Given the description of an element on the screen output the (x, y) to click on. 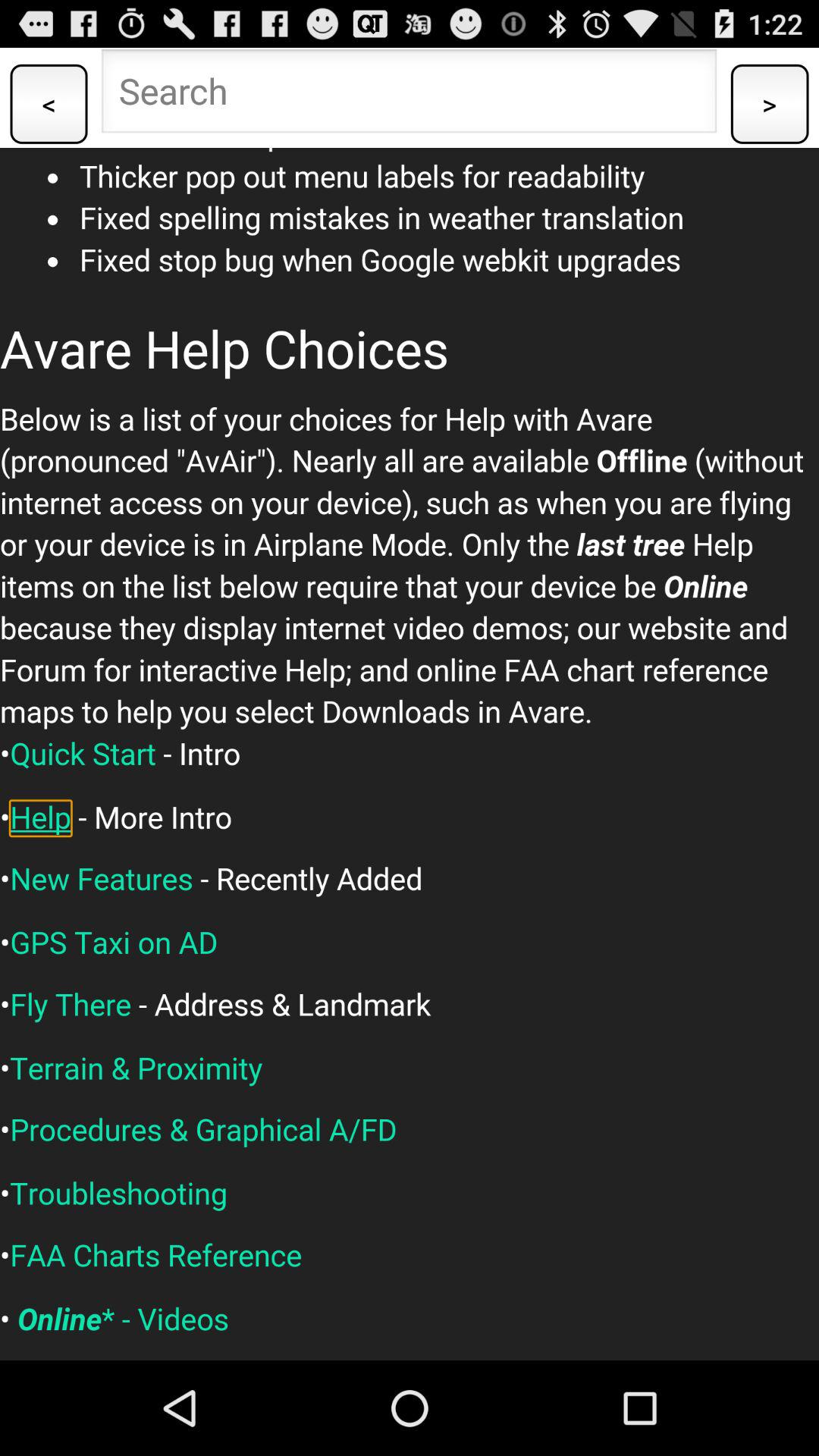
type the searching option (408, 95)
